Given the description of an element on the screen output the (x, y) to click on. 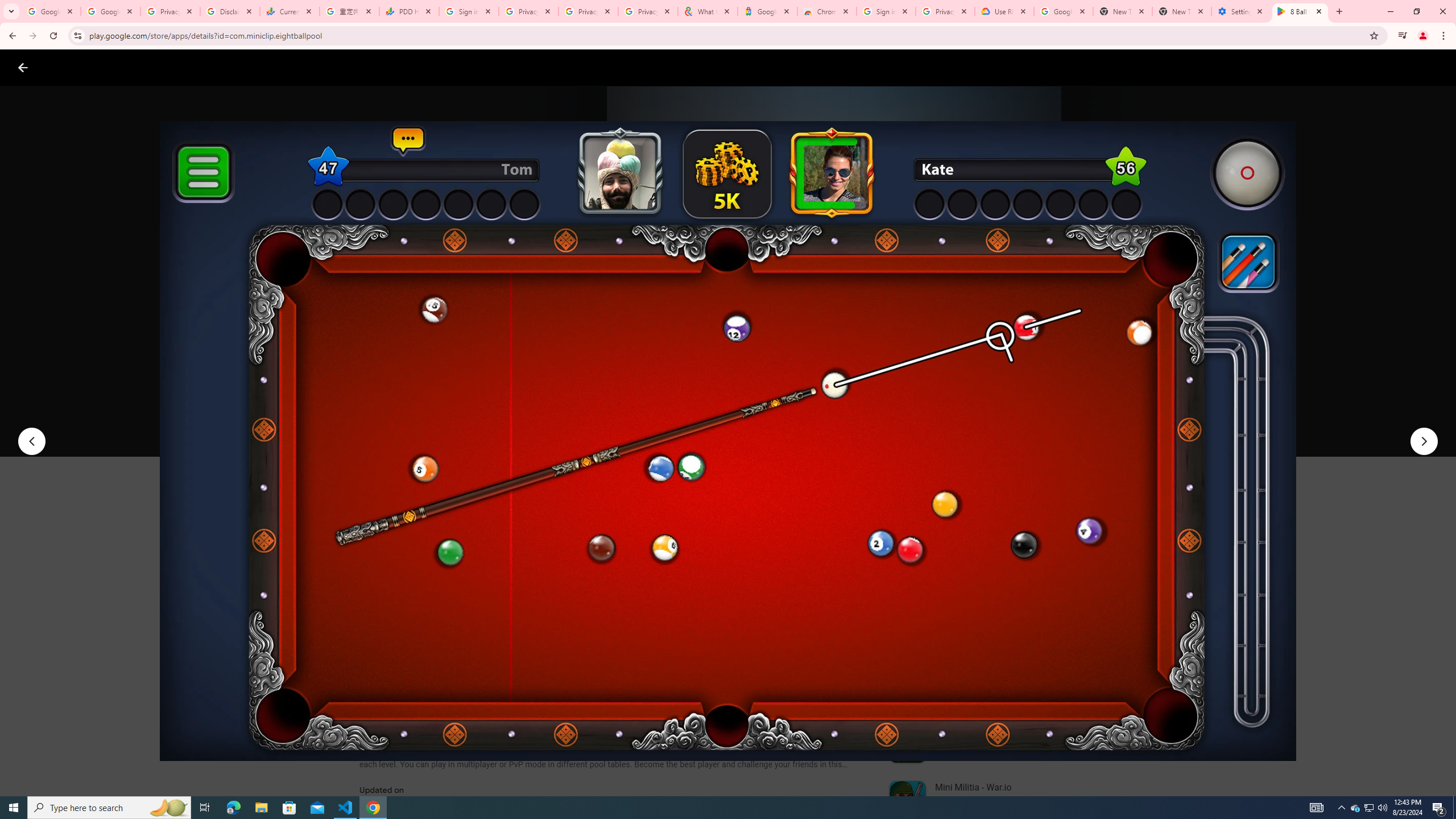
Google Workspace Admin Community (50, 11)
Sign in - Google Accounts (885, 11)
